Given the description of an element on the screen output the (x, y) to click on. 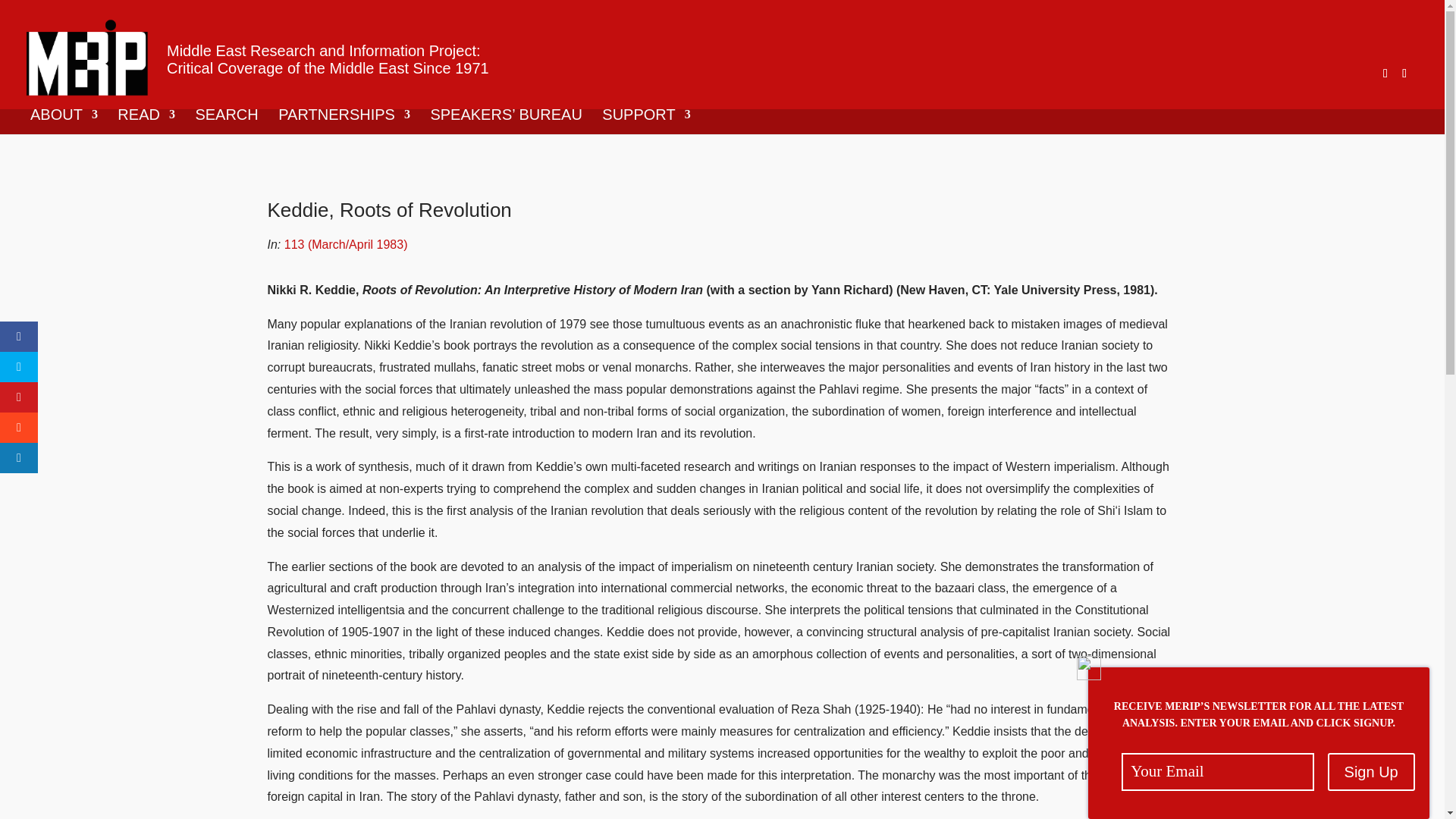
SEARCH (226, 121)
ABOUT (63, 121)
PARTNERSHIPS (344, 121)
SUPPORT (646, 121)
READ (145, 121)
Sign Up (1371, 771)
